Given the description of an element on the screen output the (x, y) to click on. 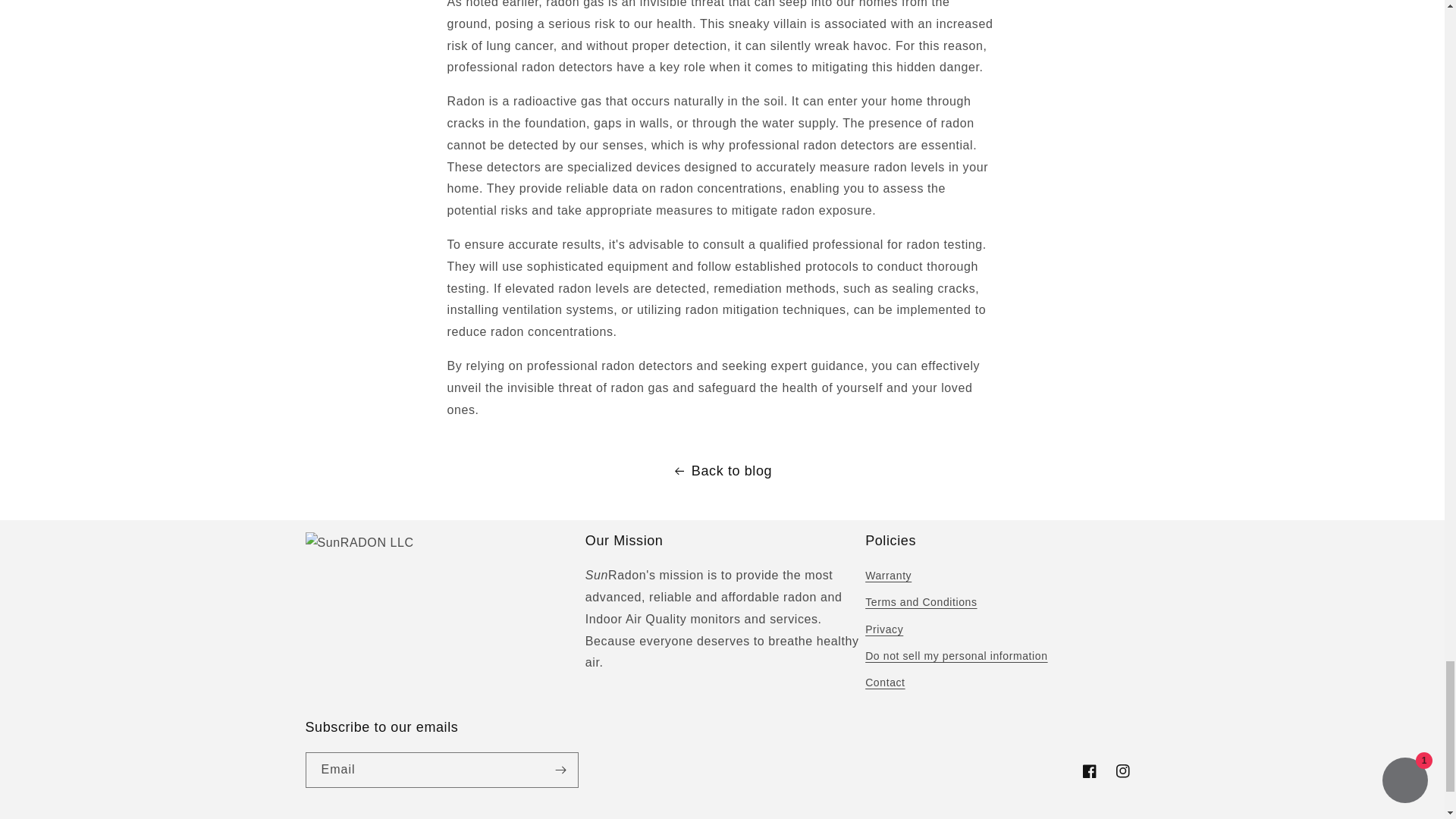
Instagram (1121, 770)
Warranty (887, 577)
Do not sell my personal information (955, 655)
Contact (884, 682)
Facebook (1088, 770)
Privacy (883, 629)
Terms and Conditions (920, 601)
